Given the description of an element on the screen output the (x, y) to click on. 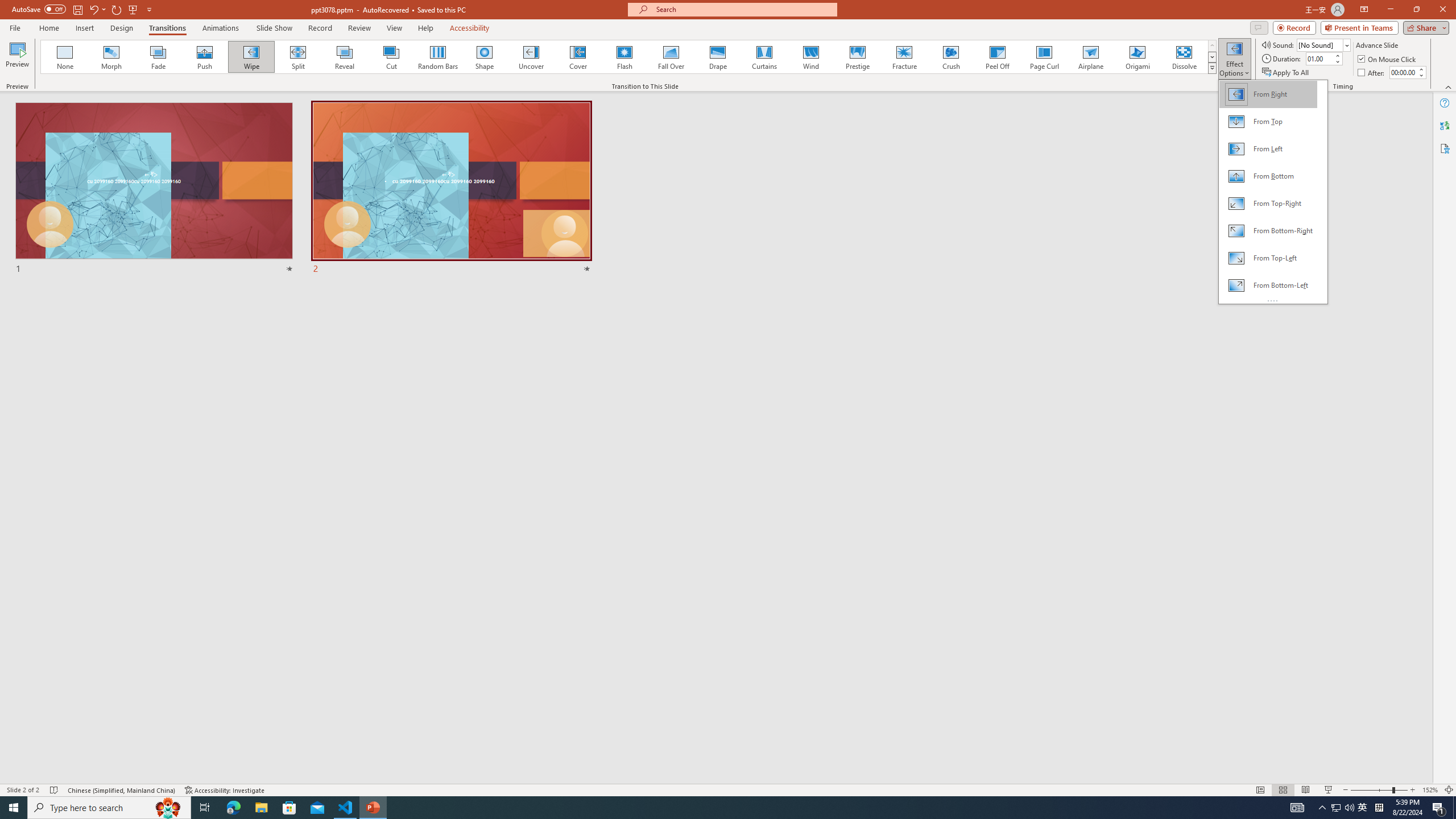
Curtains (764, 56)
Dissolve (1183, 56)
Wind (810, 56)
Origami (1136, 56)
